Given the description of an element on the screen output the (x, y) to click on. 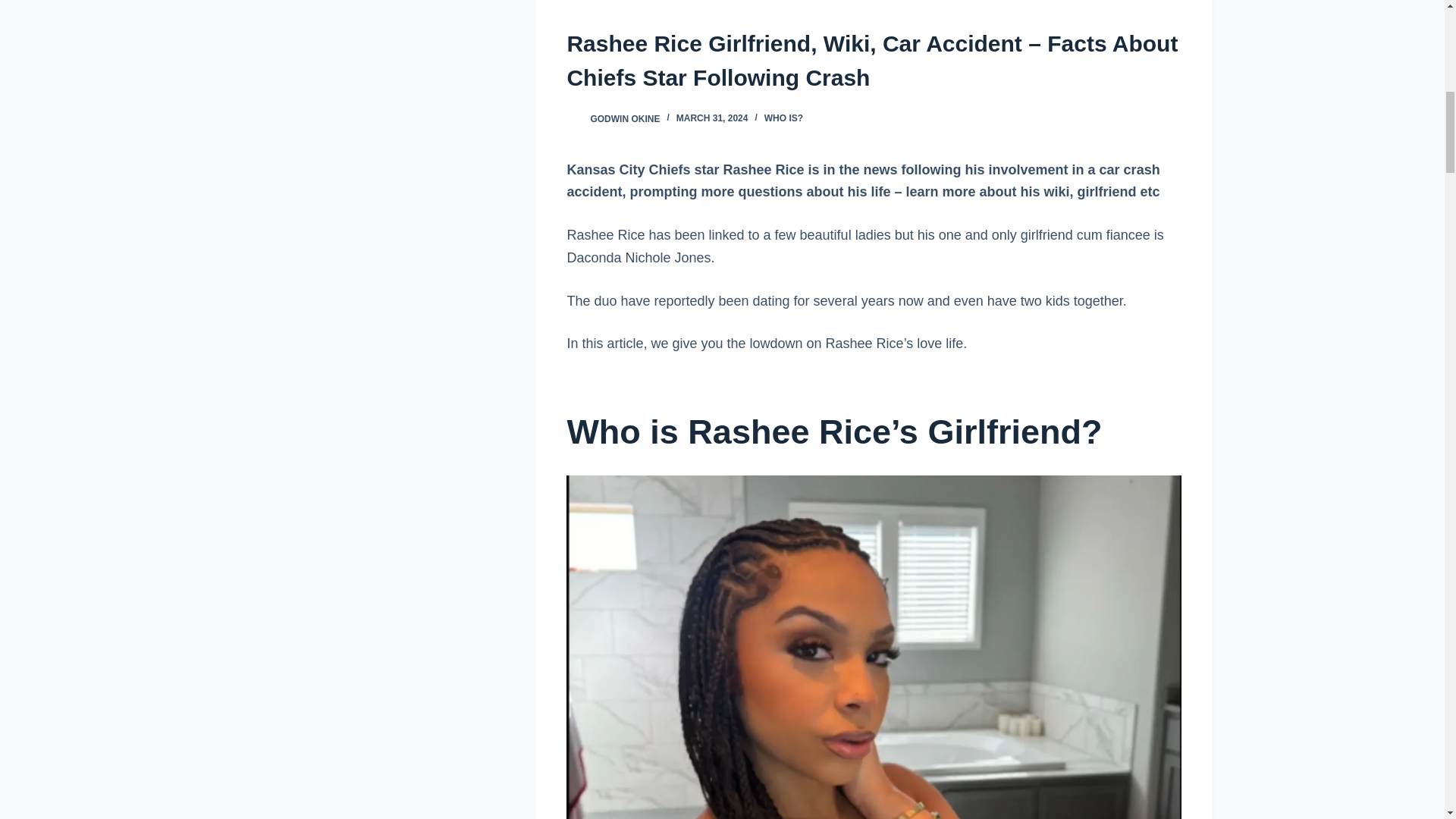
WHO IS? (783, 118)
Posts by Godwin Okine (624, 118)
GODWIN OKINE (624, 118)
